Given the description of an element on the screen output the (x, y) to click on. 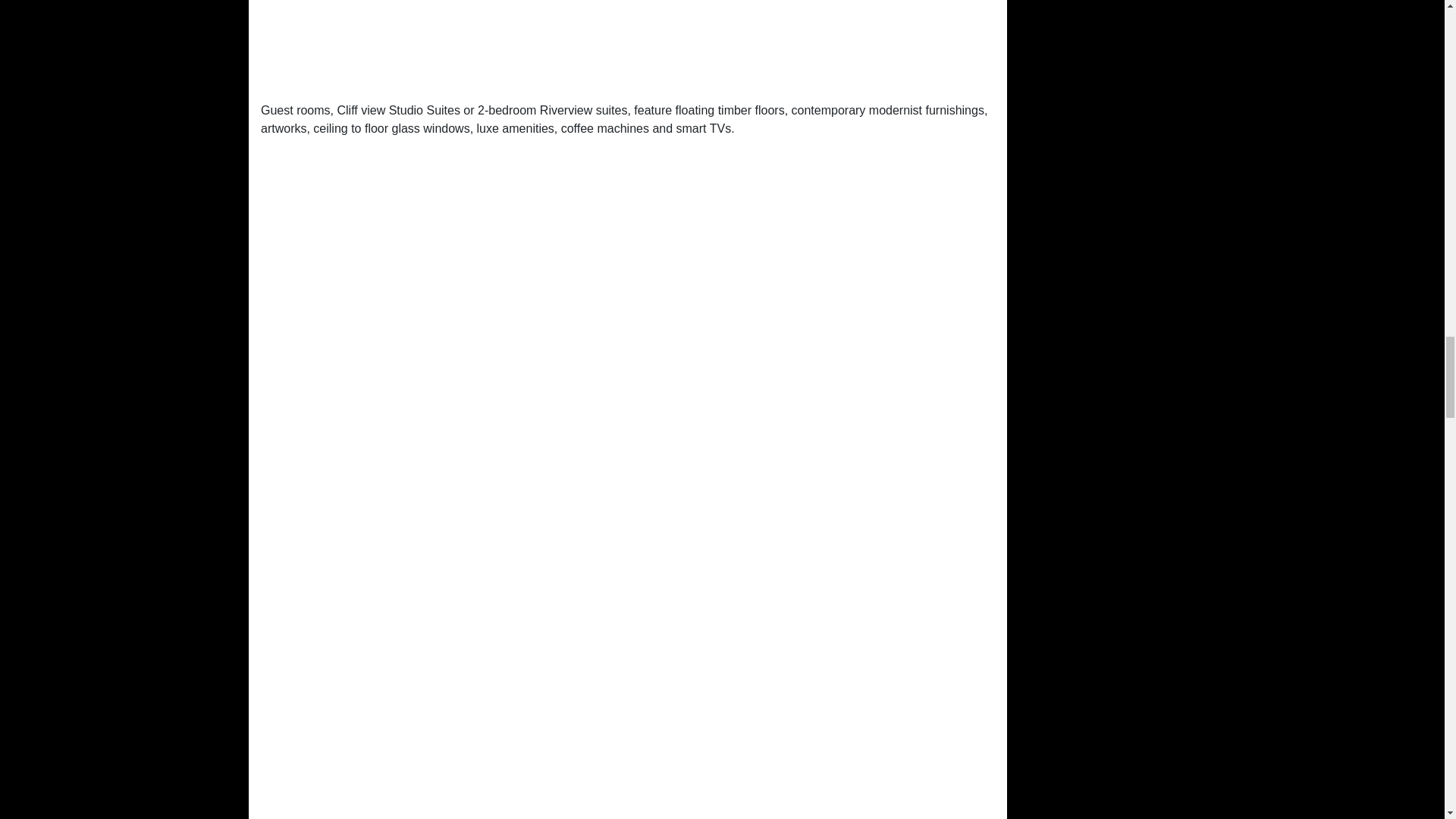
Crystalbrook Vincent Brisbane (627, 44)
